Given the description of an element on the screen output the (x, y) to click on. 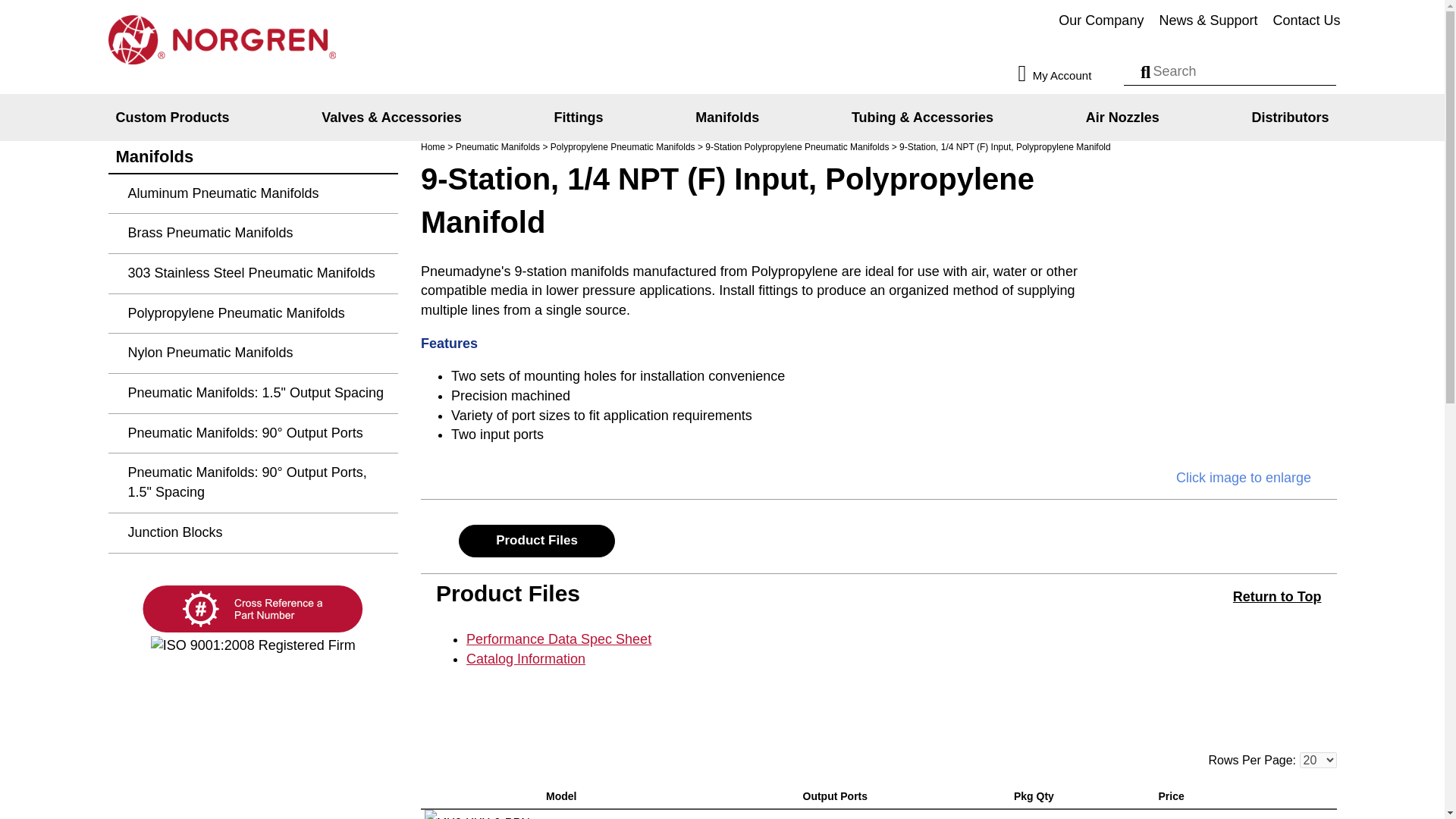
ISO 9001:2008 Registered Firm (252, 645)
Our Company (1101, 21)
Cross Reference a Part Number (253, 608)
  My Account (1068, 74)
Contact Us (1306, 21)
